Given the description of an element on the screen output the (x, y) to click on. 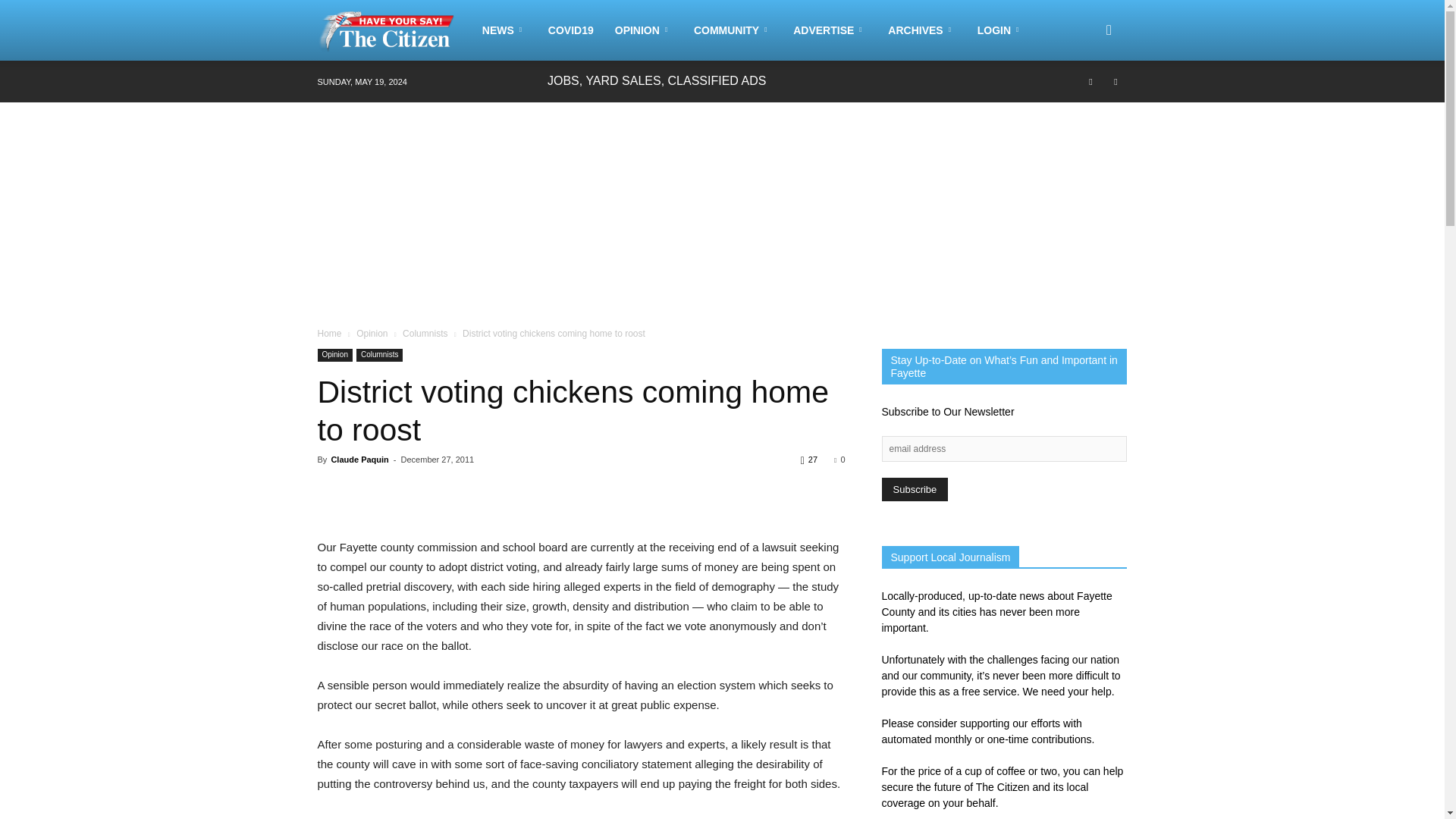
View all posts in Opinion (371, 333)
Subscribe (913, 489)
View all posts in Columnists (424, 333)
